Given the description of an element on the screen output the (x, y) to click on. 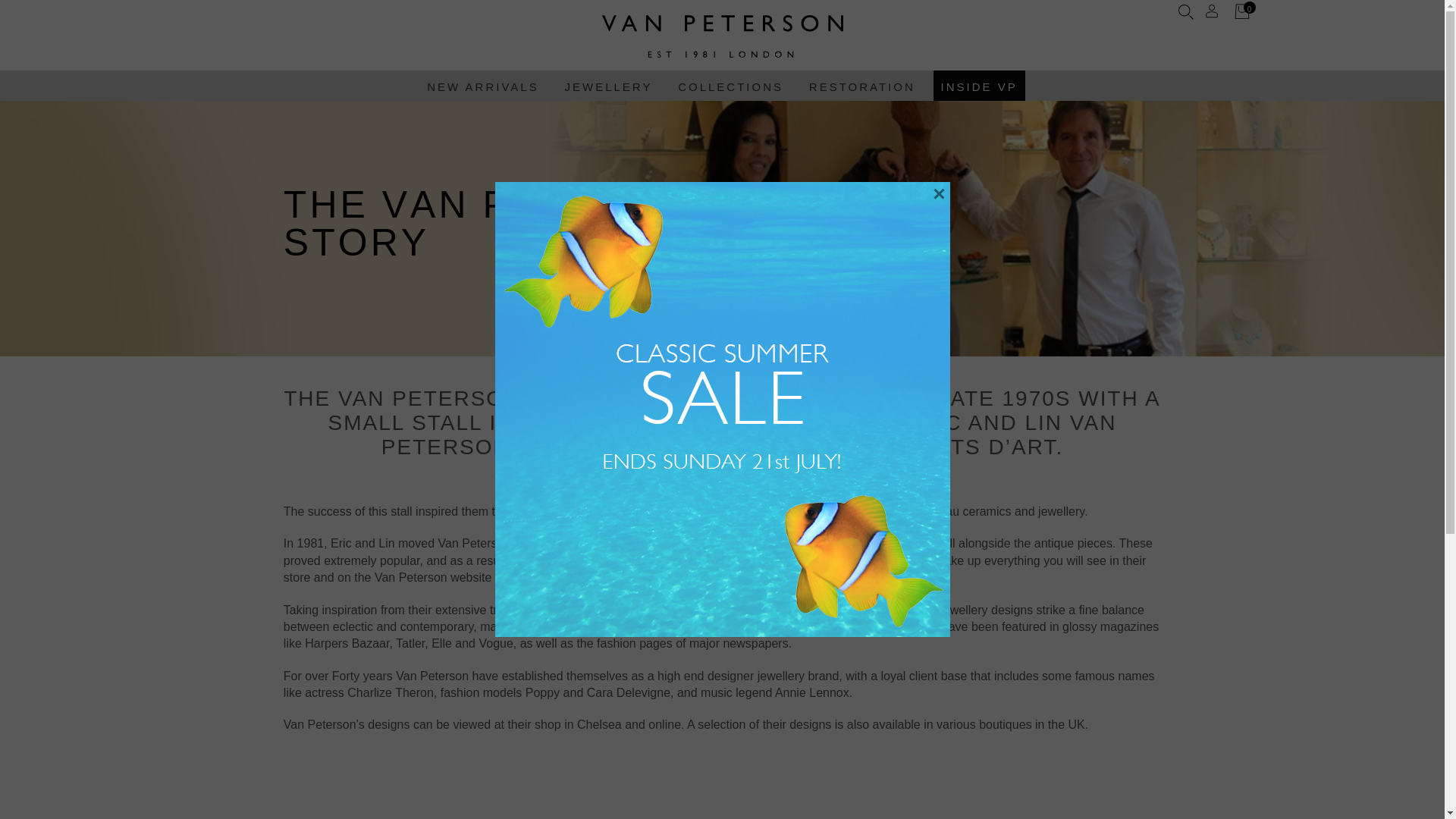
COLLECTIONS (729, 85)
JEWELLERY (607, 85)
INSIDE VP (979, 85)
RESTORATION (862, 85)
NEW ARRIVALS (482, 85)
